Given the description of an element on the screen output the (x, y) to click on. 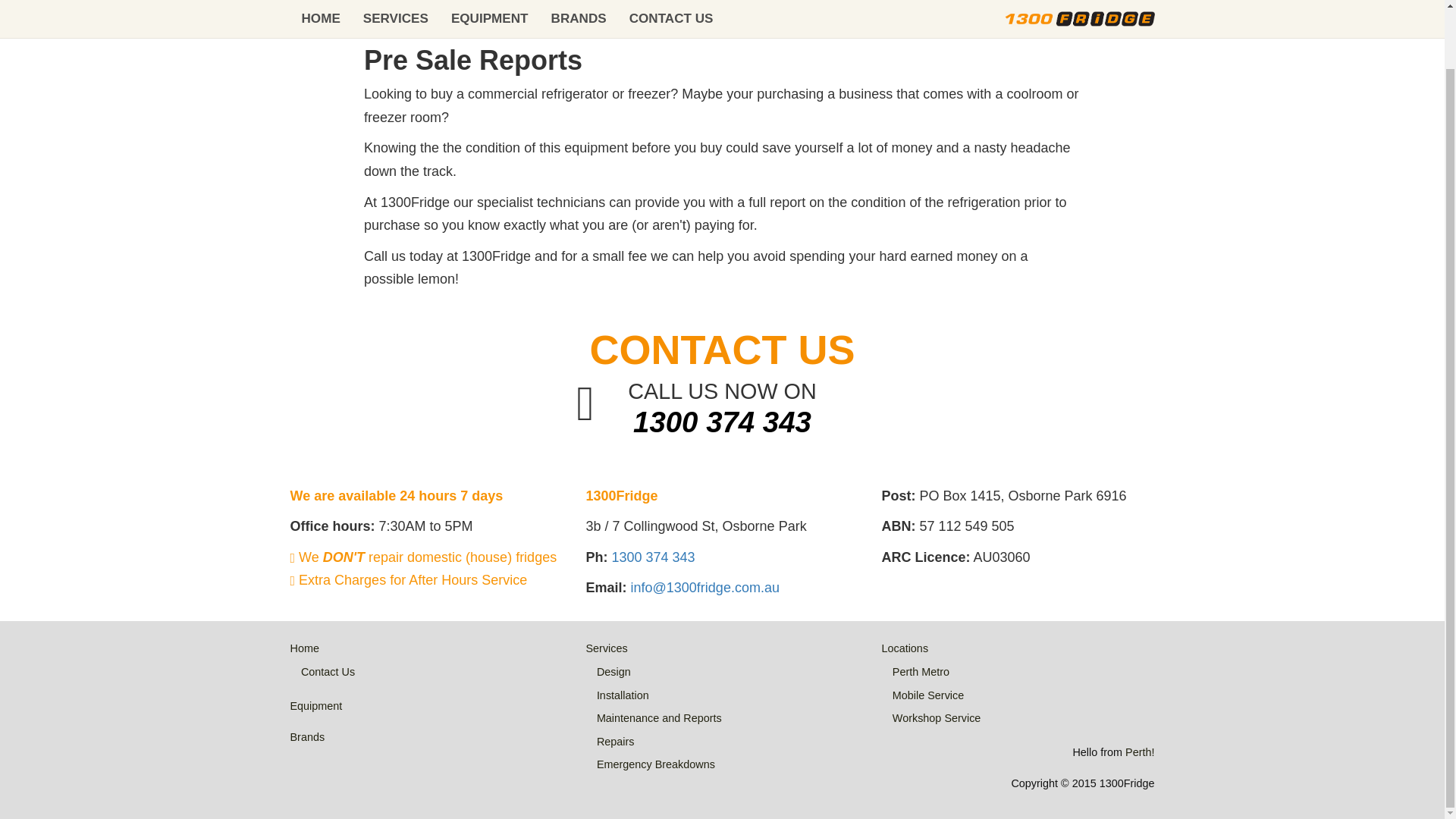
1300Fridge (409, 11)
Contact Us (328, 671)
Call 1300Fridge now on 1300 374 343 (721, 421)
Services (606, 648)
Perth Metro (920, 671)
Maintenance and Reports (659, 717)
Equipment (315, 705)
Emergency Breakdowns (655, 764)
Workshop Service (936, 717)
Installation (622, 695)
